Given the description of an element on the screen output the (x, y) to click on. 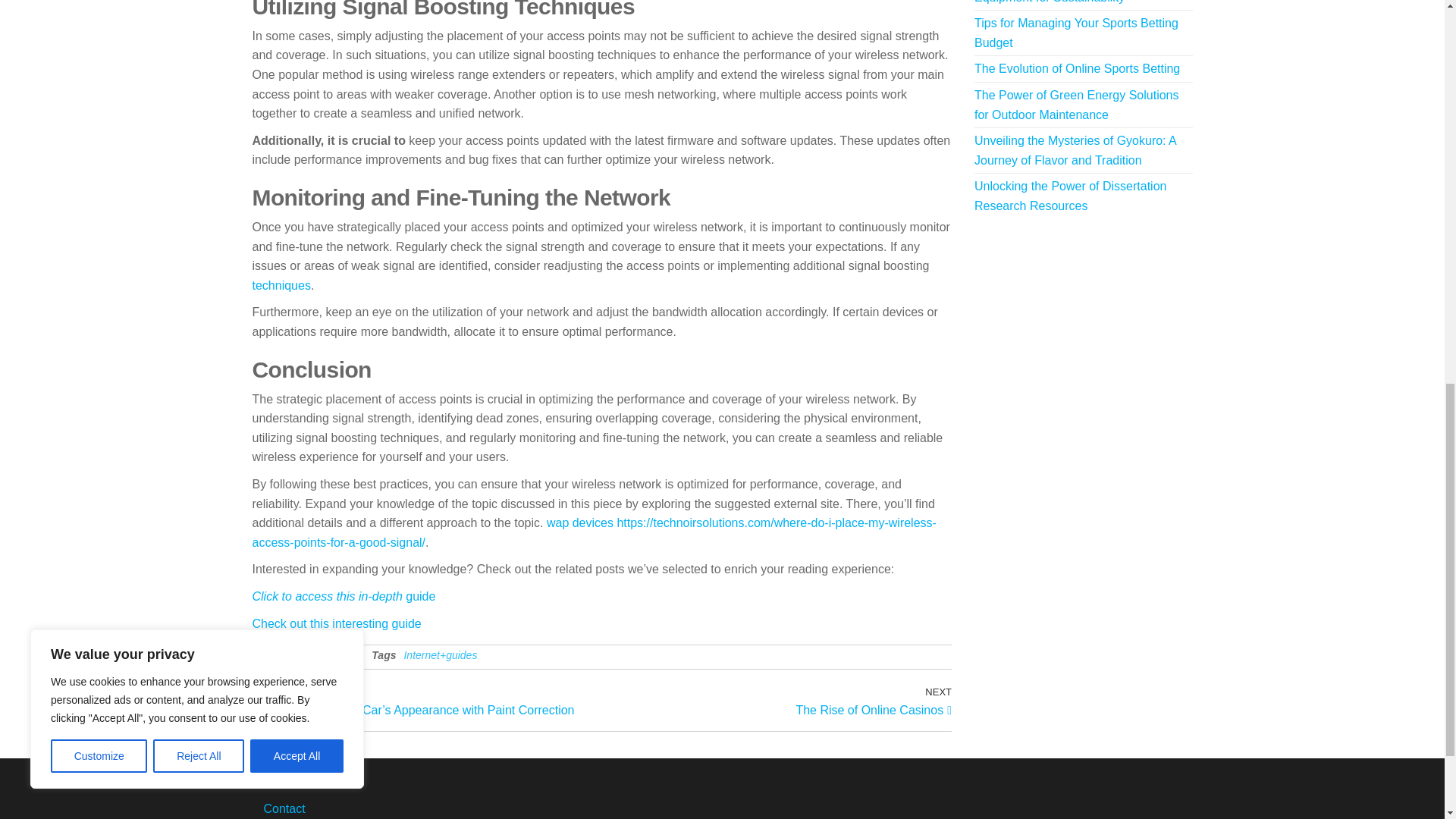
techniques (777, 700)
Click to access this in-depth guide (280, 285)
General (343, 595)
Check out this interesting guide (326, 654)
